Given the description of an element on the screen output the (x, y) to click on. 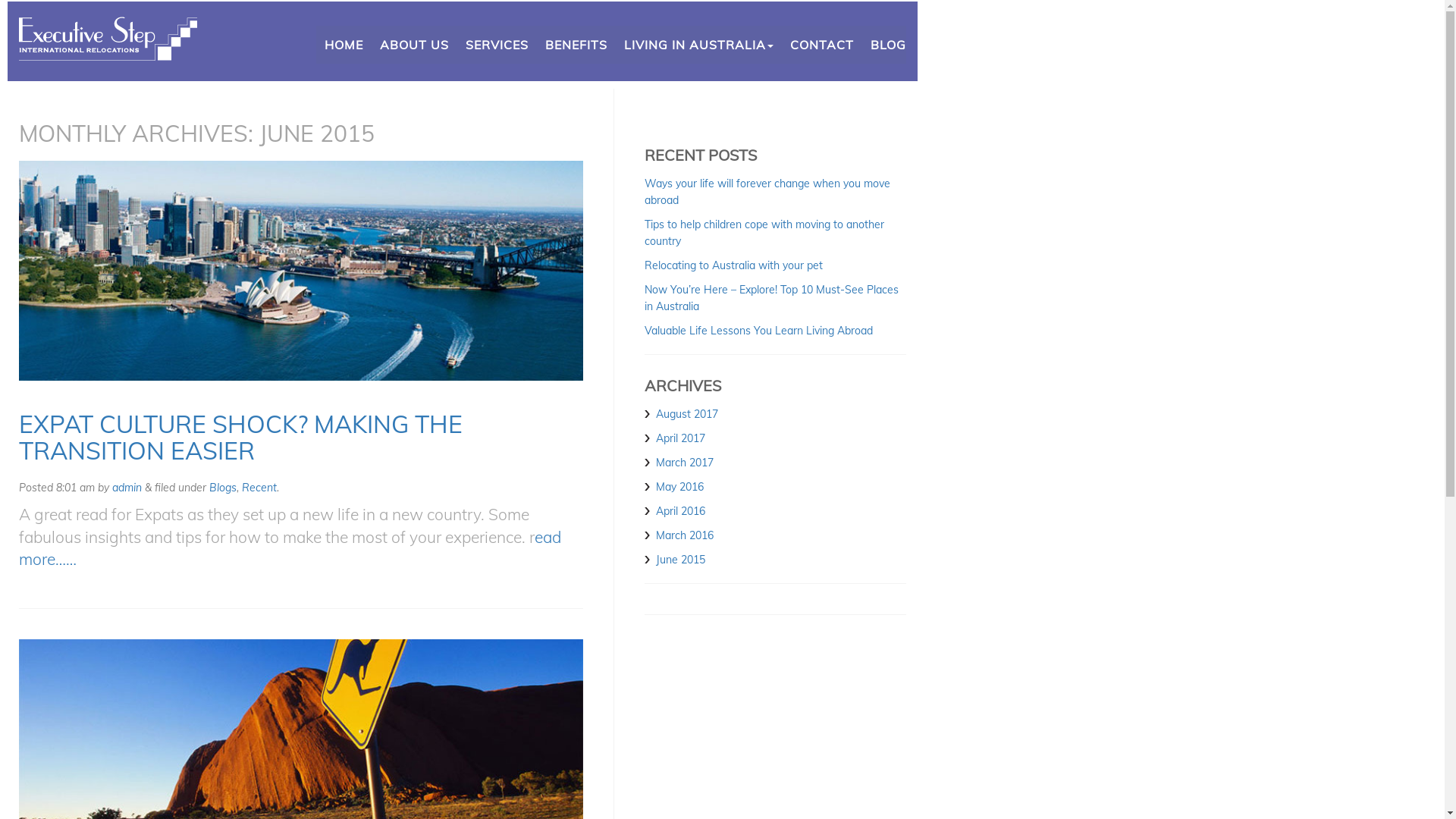
April 2016 Element type: text (680, 510)
ABOUT US Element type: text (414, 44)
Valuable Life Lessons You Learn Living Abroad Element type: text (758, 330)
EXPAT CULTURE SHOCK? MAKING THE TRANSITION EASIER Element type: text (240, 436)
Relocating to Australia with your pet Element type: text (733, 265)
CONTACT Element type: text (821, 44)
Blogs Element type: text (222, 487)
May 2016 Element type: text (679, 486)
June 2015 Element type: text (680, 559)
International Relocators Element type: hover (113, 48)
HOME Element type: text (343, 44)
March 2017 Element type: text (684, 462)
August 2017 Element type: text (686, 413)
LIVING IN AUSTRALIA Element type: text (698, 44)
Ways your life will forever change when you move abroad Element type: text (767, 191)
Recent Element type: text (258, 487)
BLOG Element type: text (884, 44)
SERVICES Element type: text (496, 44)
BENEFITS Element type: text (575, 44)
Tips to help children cope with moving to another country Element type: text (764, 232)
April 2017 Element type: text (680, 438)
admin Element type: text (126, 487)
March 2016 Element type: text (684, 535)
